Given the description of an element on the screen output the (x, y) to click on. 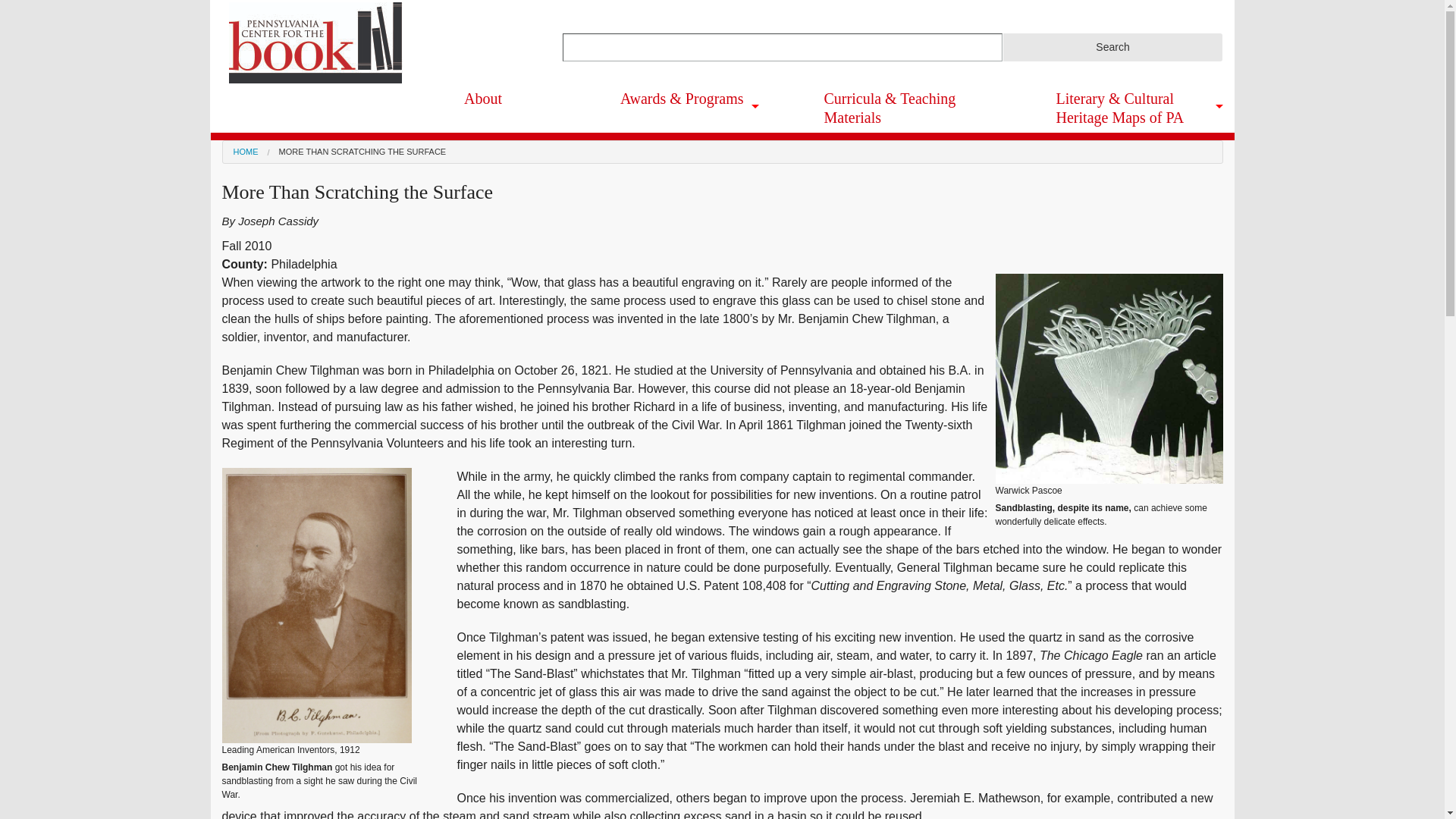
Enter the terms you wish to search for. (782, 47)
Pennsylvania Center for the Book Home (315, 42)
Letters About Literature (731, 253)
A Baker's Dozen (731, 135)
Lynd Ward Graphic Novel Prize (731, 308)
Lee Bennett Hopkins Poetry Award (731, 189)
PA Great Reads from Great Places (731, 363)
Search (1113, 47)
About (509, 99)
Pennsylvania Center for the Book Home (312, 41)
